Given the description of an element on the screen output the (x, y) to click on. 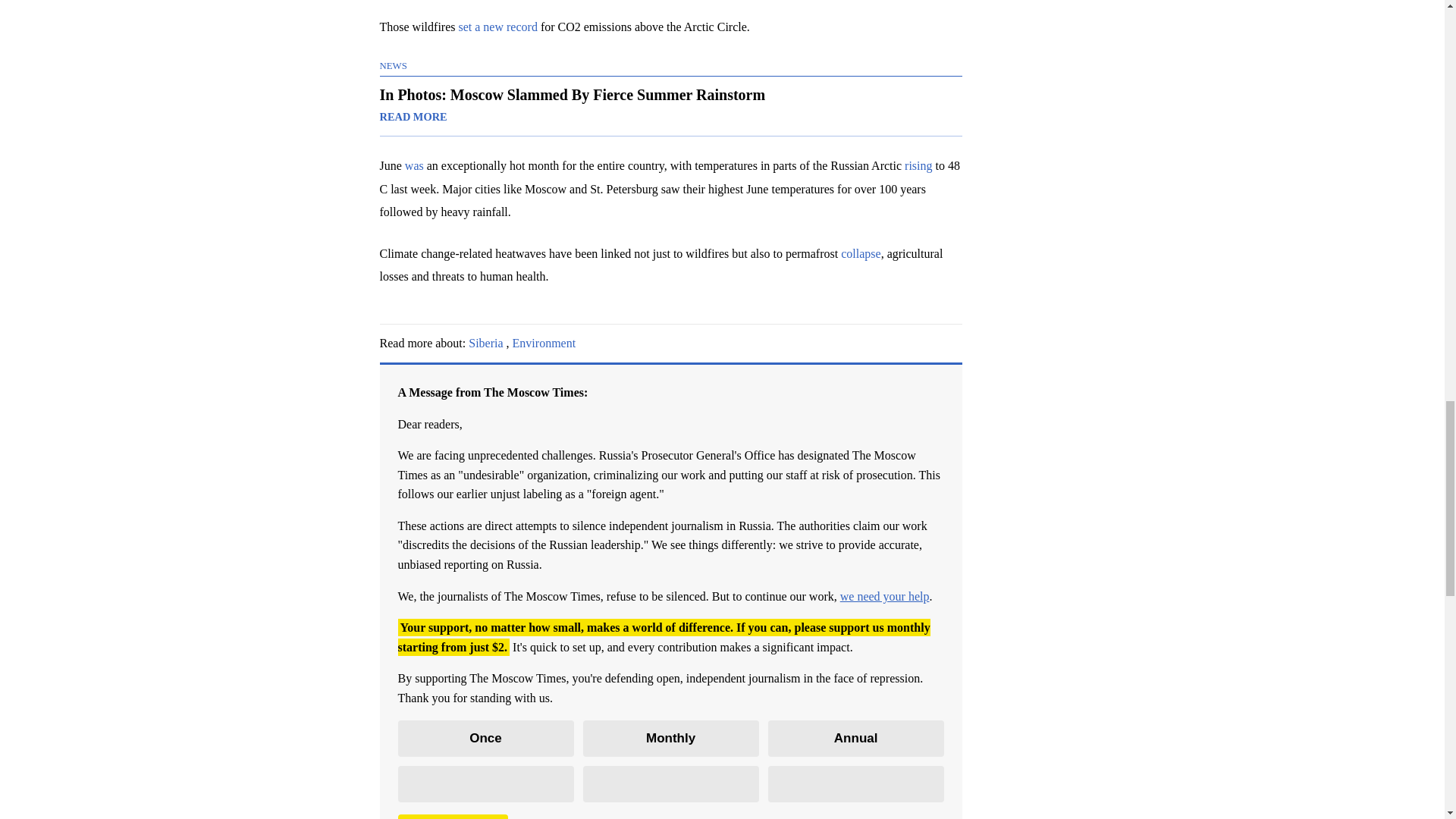
In Photos: Moscow Slammed By Fierce Summer Rainstorm (669, 106)
Siberia (485, 342)
set a new record (497, 26)
we need your help (885, 595)
Environment (544, 342)
